Given the description of an element on the screen output the (x, y) to click on. 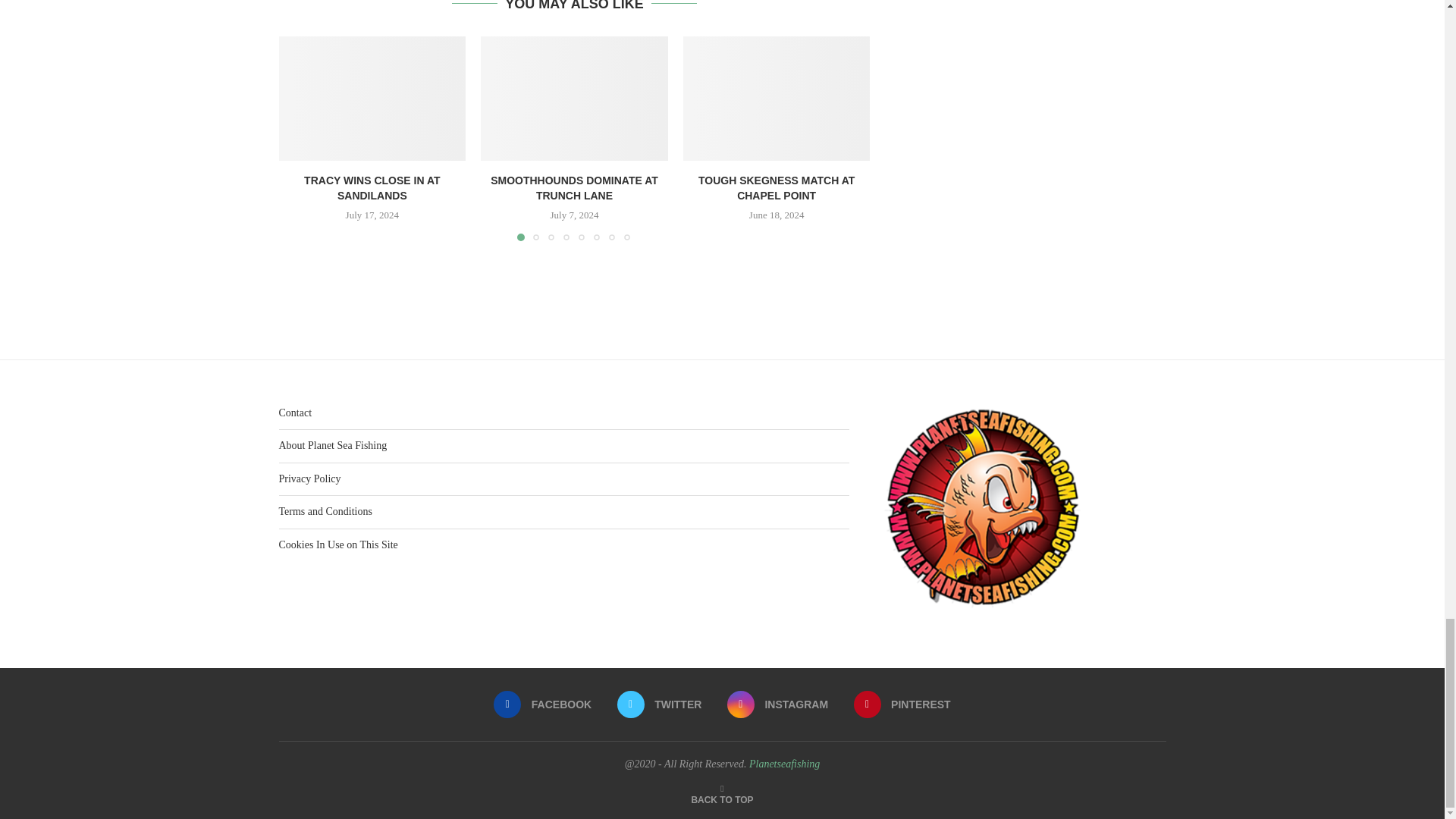
Tracy Wins Close In At Sandilands (372, 98)
Smoothhounds Dominate At Trunch Lane (574, 98)
Tough Skegness Match At Chapel Point (776, 98)
